Given the description of an element on the screen output the (x, y) to click on. 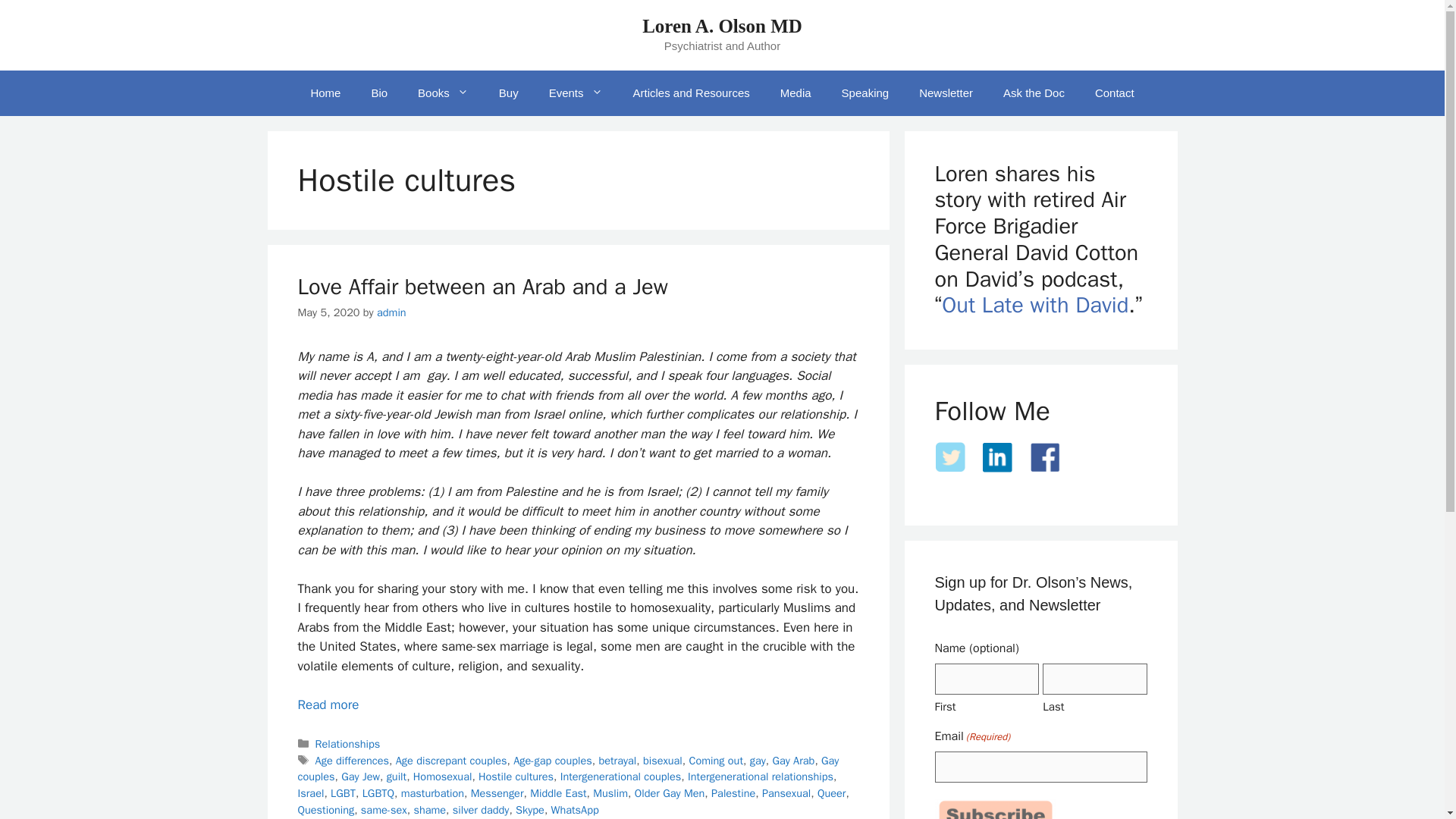
Age-gap couples (552, 760)
Newsletter (946, 92)
Events (575, 92)
admin (391, 312)
Coming out (715, 760)
guilt (397, 775)
Gay Jew (360, 775)
Hostile cultures (516, 775)
bisexual (662, 760)
Read more (327, 704)
